Given the description of an element on the screen output the (x, y) to click on. 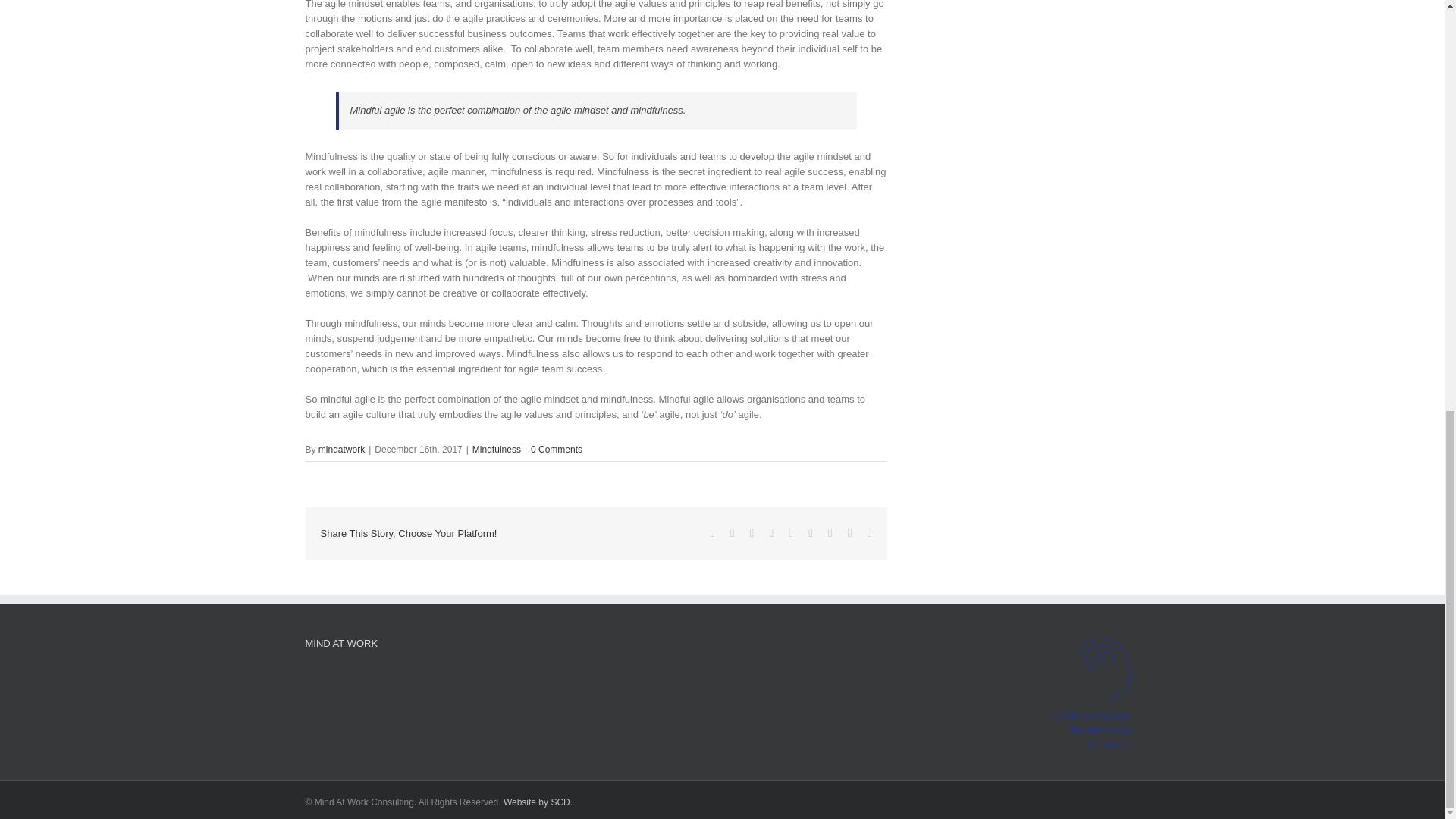
0 Comments (556, 449)
Mindfulness (496, 449)
mindatwork (341, 449)
Website by SCD (536, 801)
Posts by mindatwork (341, 449)
